Given the description of an element on the screen output the (x, y) to click on. 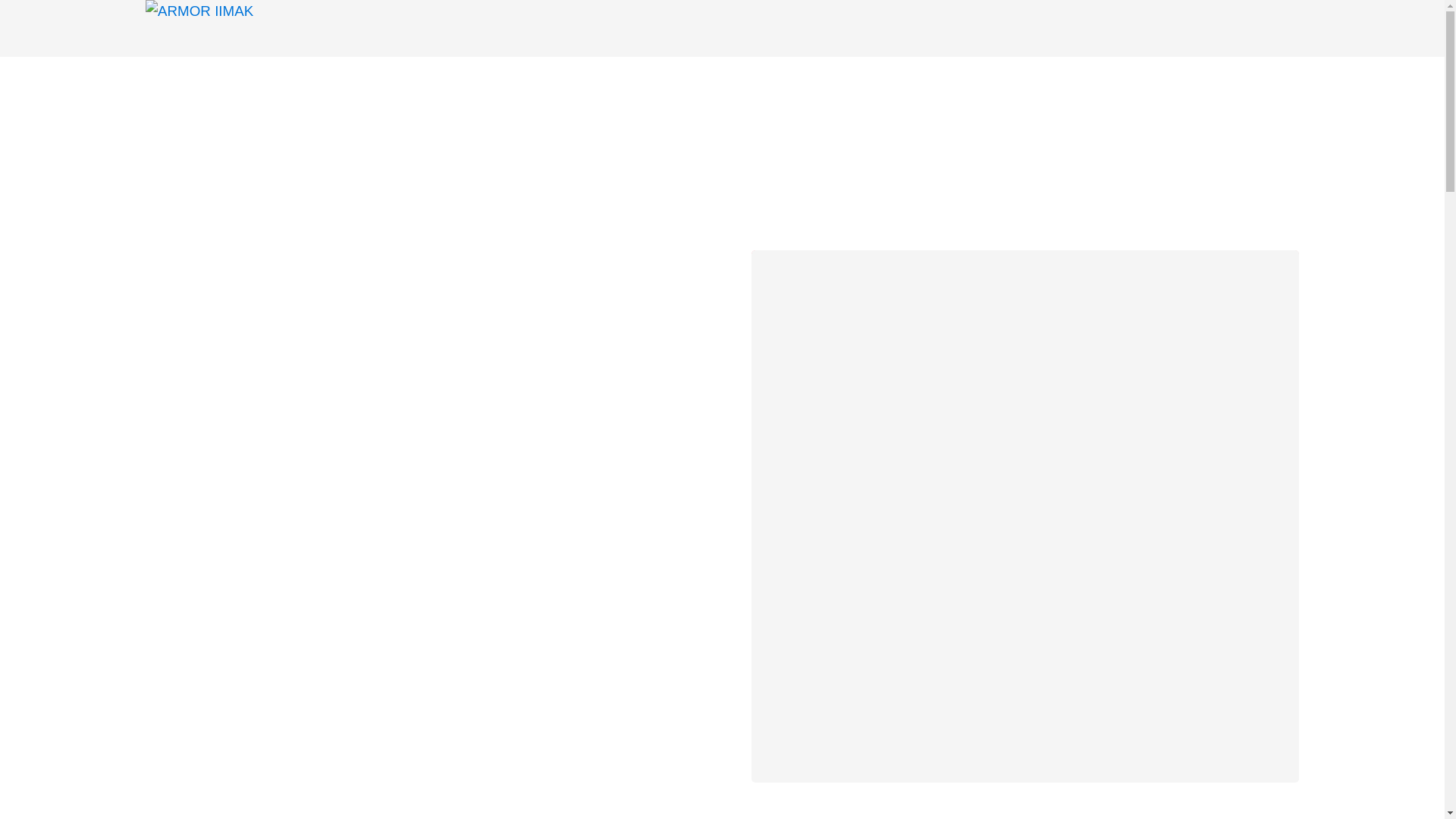
Home (164, 247)
Crate and tote Labels (419, 401)
Crate and tote Labels (557, 247)
